Given the description of an element on the screen output the (x, y) to click on. 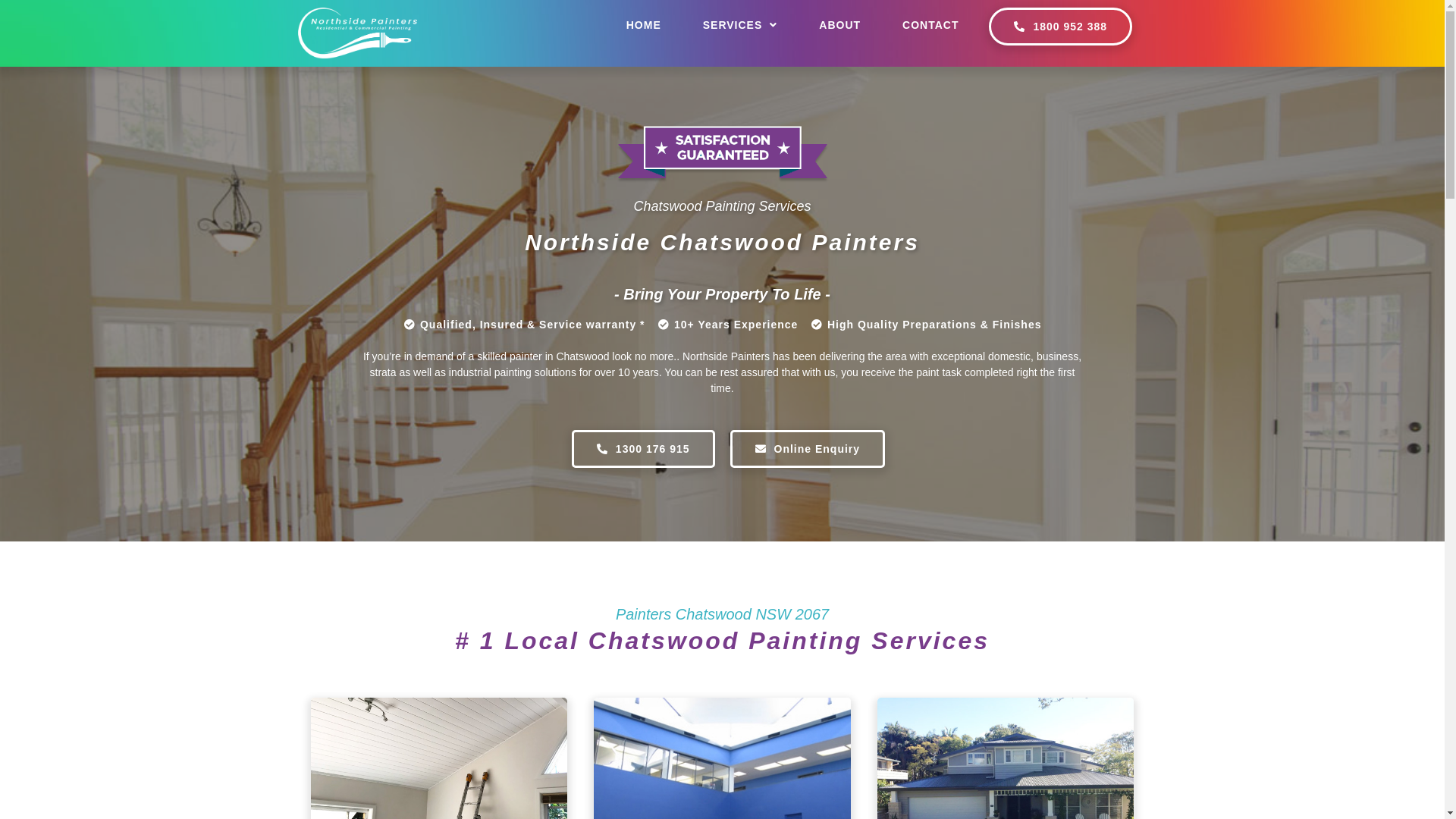
HOME Element type: text (643, 24)
1300 176 915 Element type: text (643, 448)
1800 952 388 Element type: text (1060, 26)
SERVICES Element type: text (740, 24)
CONTACT Element type: text (930, 24)
ABOUT Element type: text (839, 24)
Online Enquiry Element type: text (806, 448)
